Given the description of an element on the screen output the (x, y) to click on. 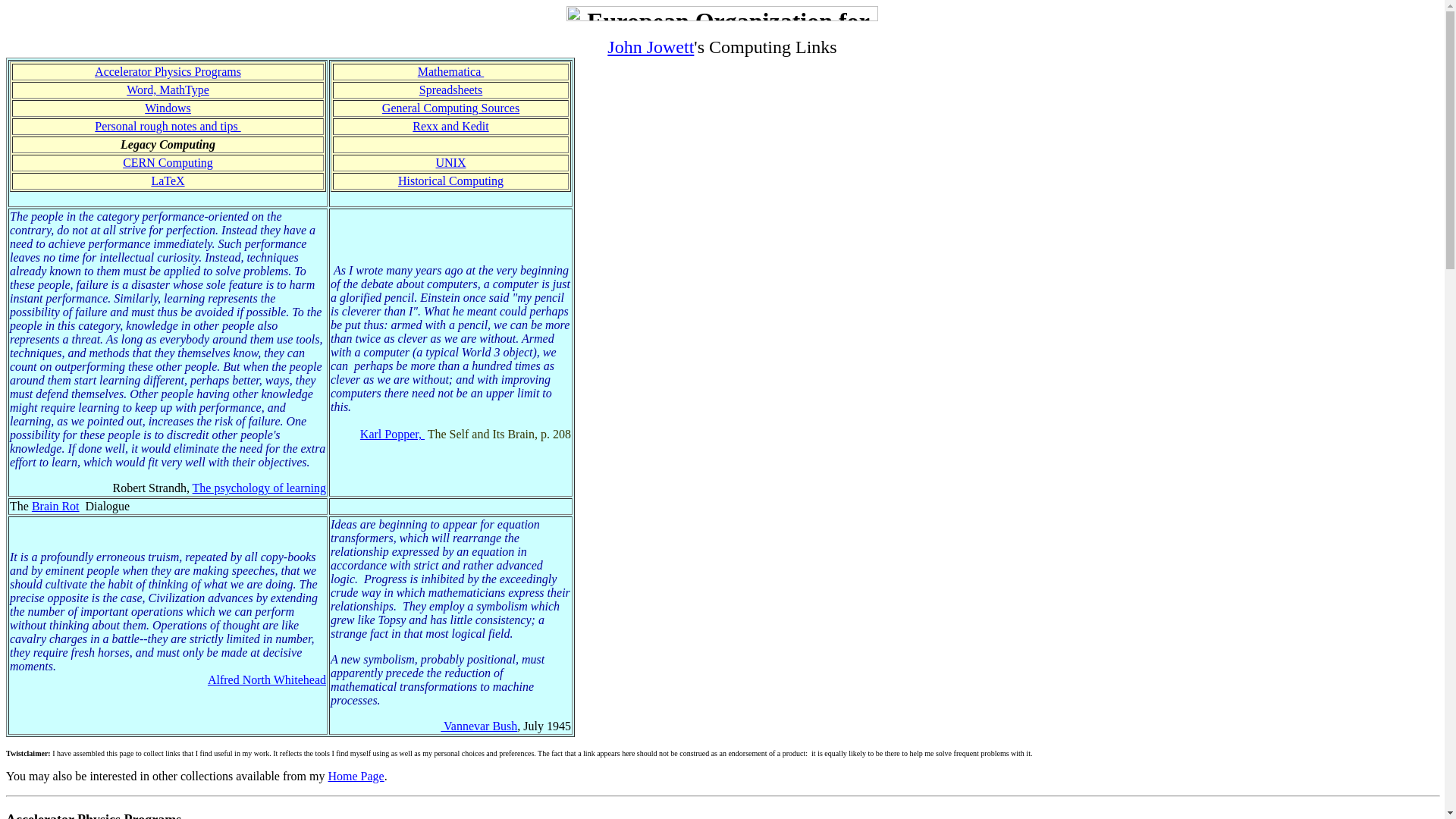
Home Page Element type: text (355, 775)
The psychology of learning Element type: text (259, 487)
Windows Element type: text (167, 107)
Personal rough notes and tips  Element type: text (167, 125)
Historical Computing Element type: text (450, 180)
Mathematica  Element type: text (450, 71)
CERN Computing Element type: text (167, 162)
John Jowett Element type: text (650, 46)
Spreadsheets Element type: text (451, 89)
General Computing Sources Element type: text (450, 107)
Alfred North Whitehead Element type: text (266, 679)
 Vannevar Bush Element type: text (478, 725)
Rexx and Kedit Element type: text (450, 125)
Brain Rot Element type: text (55, 505)
Karl Popper,  Element type: text (392, 433)
LaTeX Element type: text (167, 180)
Word, MathType Element type: text (167, 89)
UNIX Element type: text (450, 162)
Accelerator Physics Programs Element type: text (167, 71)
